Given the description of an element on the screen output the (x, y) to click on. 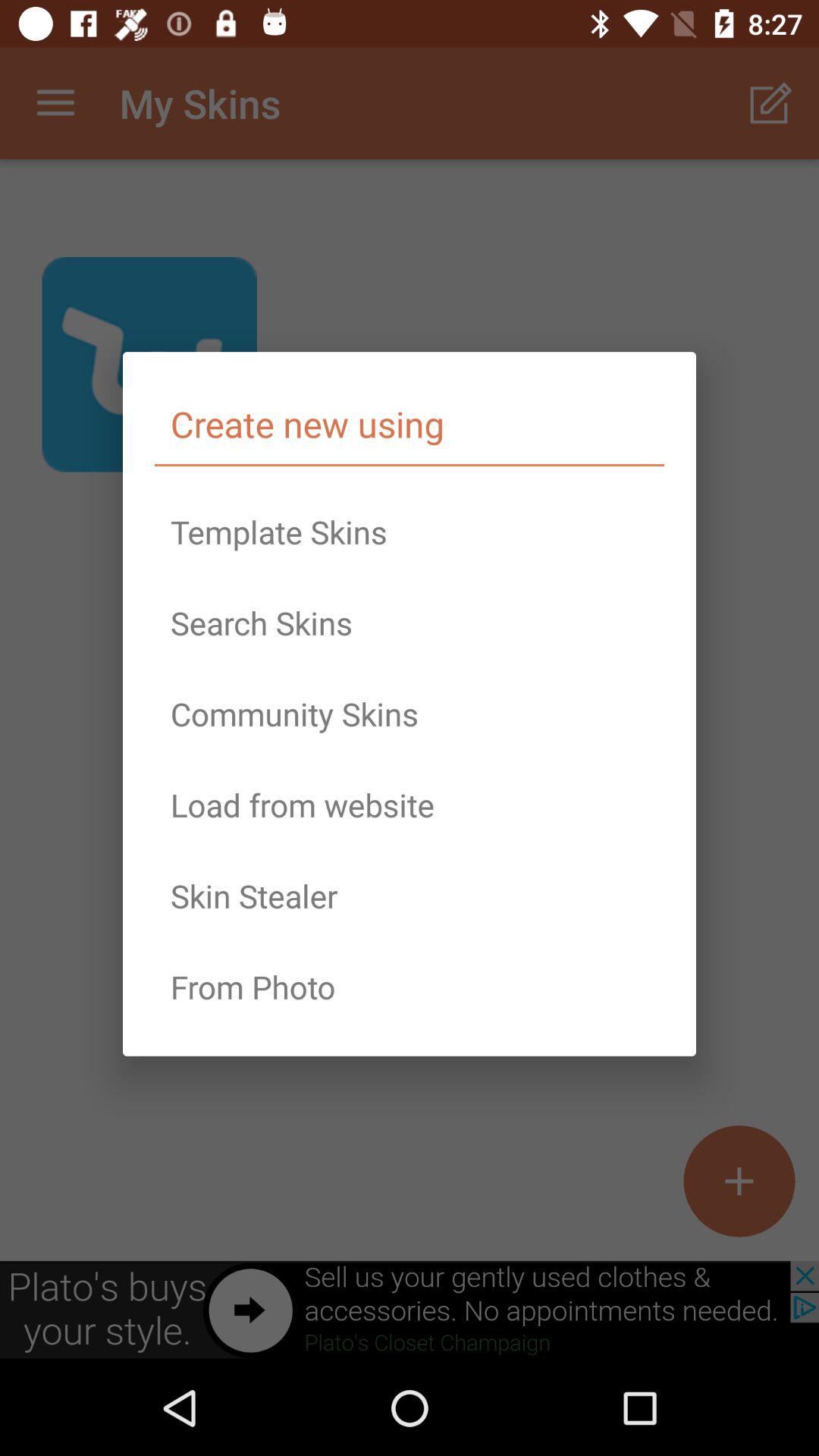
choose icon above the skin stealer item (409, 804)
